Given the description of an element on the screen output the (x, y) to click on. 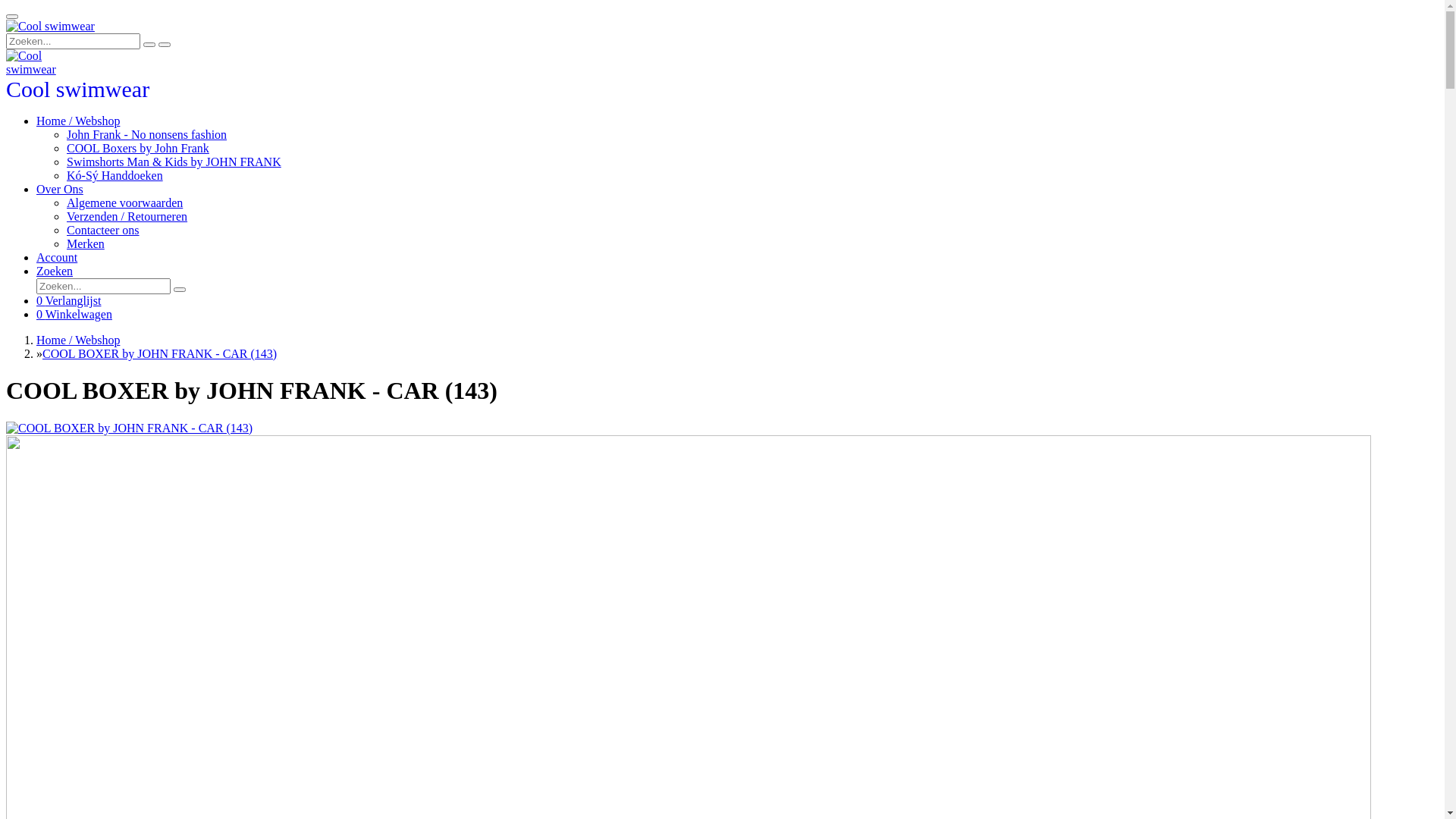
Verzenden / Retourneren Element type: text (126, 216)
COOL BOXER by JOHN FRANK - CAR (143) Element type: text (159, 353)
Zoeken Element type: text (54, 270)
Swimshorts Man & Kids by JOHN FRANK Element type: text (173, 161)
Merken Element type: text (85, 243)
Home / Webshop Element type: text (77, 339)
Algemene voorwaarden Element type: text (124, 202)
Home / Webshop Element type: text (77, 120)
Cool swimwear Element type: hover (43, 62)
John Frank - No nonsens fashion Element type: text (146, 134)
Cool swimwear Element type: text (77, 92)
Cool swimwear Element type: hover (50, 26)
COOL Boxers by John Frank Element type: text (137, 147)
0 Winkelwagen Element type: text (74, 313)
Contacteer ons Element type: text (102, 229)
0 Verlanglijst Element type: text (68, 300)
Over Ons Element type: text (59, 188)
Account Element type: text (56, 257)
